Given the description of an element on the screen output the (x, y) to click on. 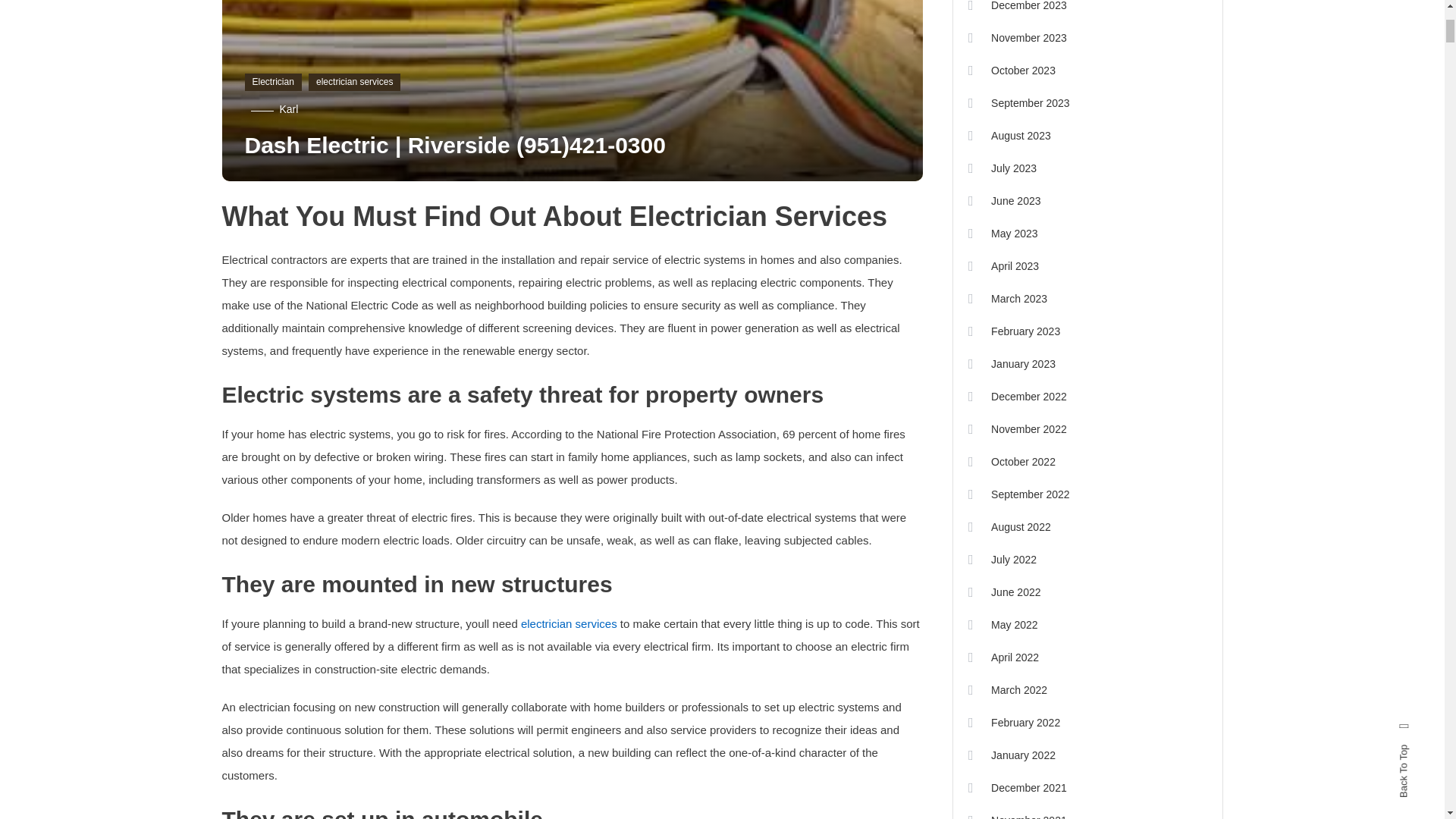
electrician services (354, 82)
Karl (288, 109)
Electrician (272, 82)
